Given the description of an element on the screen output the (x, y) to click on. 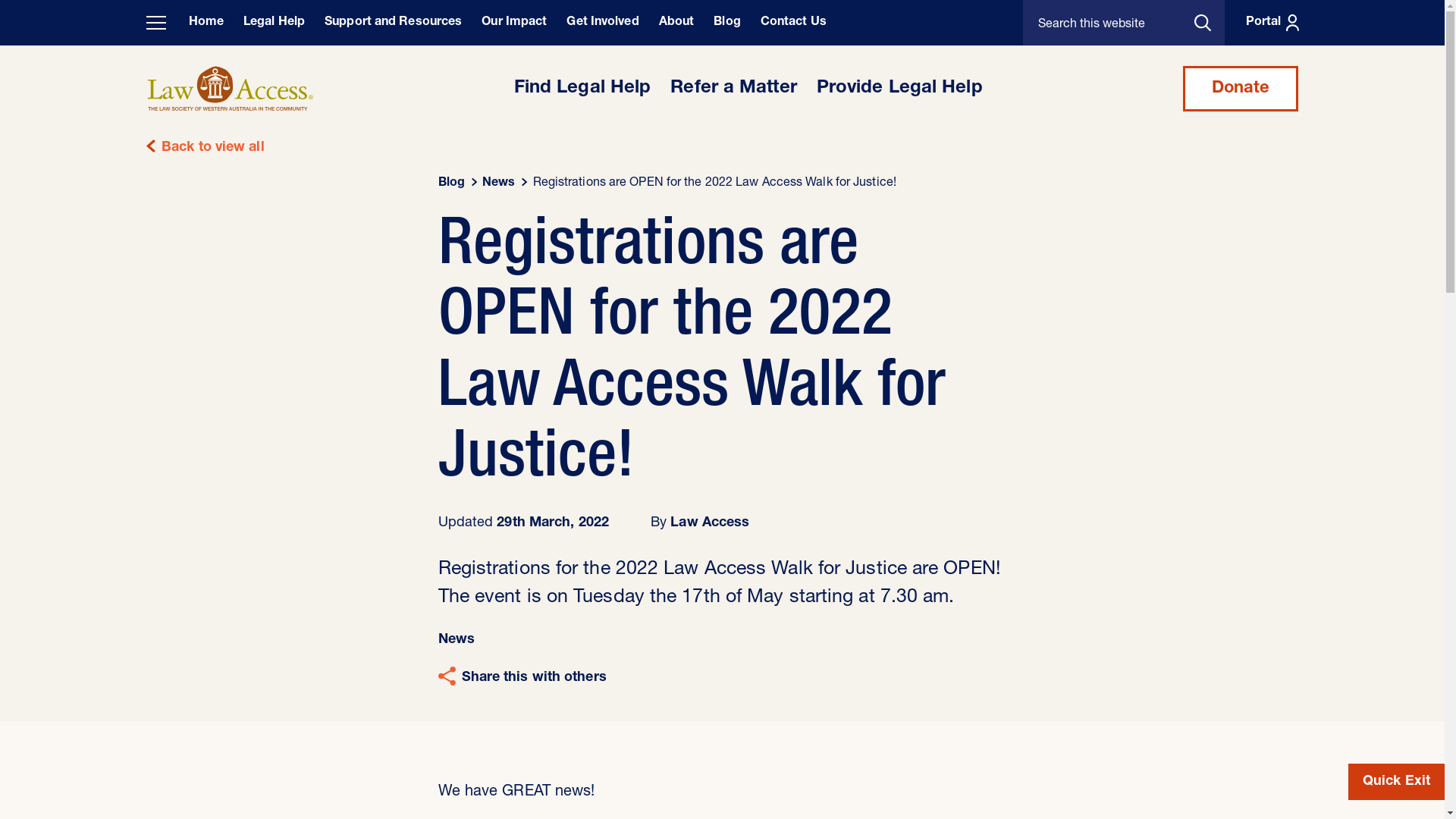
Provide Legal Help Element type: text (899, 88)
Contact Us Element type: text (793, 22)
Menu Element type: text (155, 22)
Blog Element type: text (726, 22)
Our Impact Element type: text (513, 22)
Donate Element type: text (1241, 88)
News Element type: text (498, 183)
Go Element type: text (1209, 22)
Support and Resources Element type: text (392, 22)
Back to view all Element type: text (721, 147)
Get Involved Element type: text (602, 22)
Legal Help Element type: text (273, 22)
Find Legal Help Element type: text (582, 88)
About Element type: text (676, 22)
Exit Element type: text (1396, 781)
News Element type: text (456, 639)
Portal Element type: text (1268, 22)
Refer a Matter Element type: text (732, 88)
Law Access Element type: text (709, 523)
Share this with others Element type: text (522, 677)
Blog Element type: text (451, 183)
Home Element type: text (205, 22)
